Given the description of an element on the screen output the (x, y) to click on. 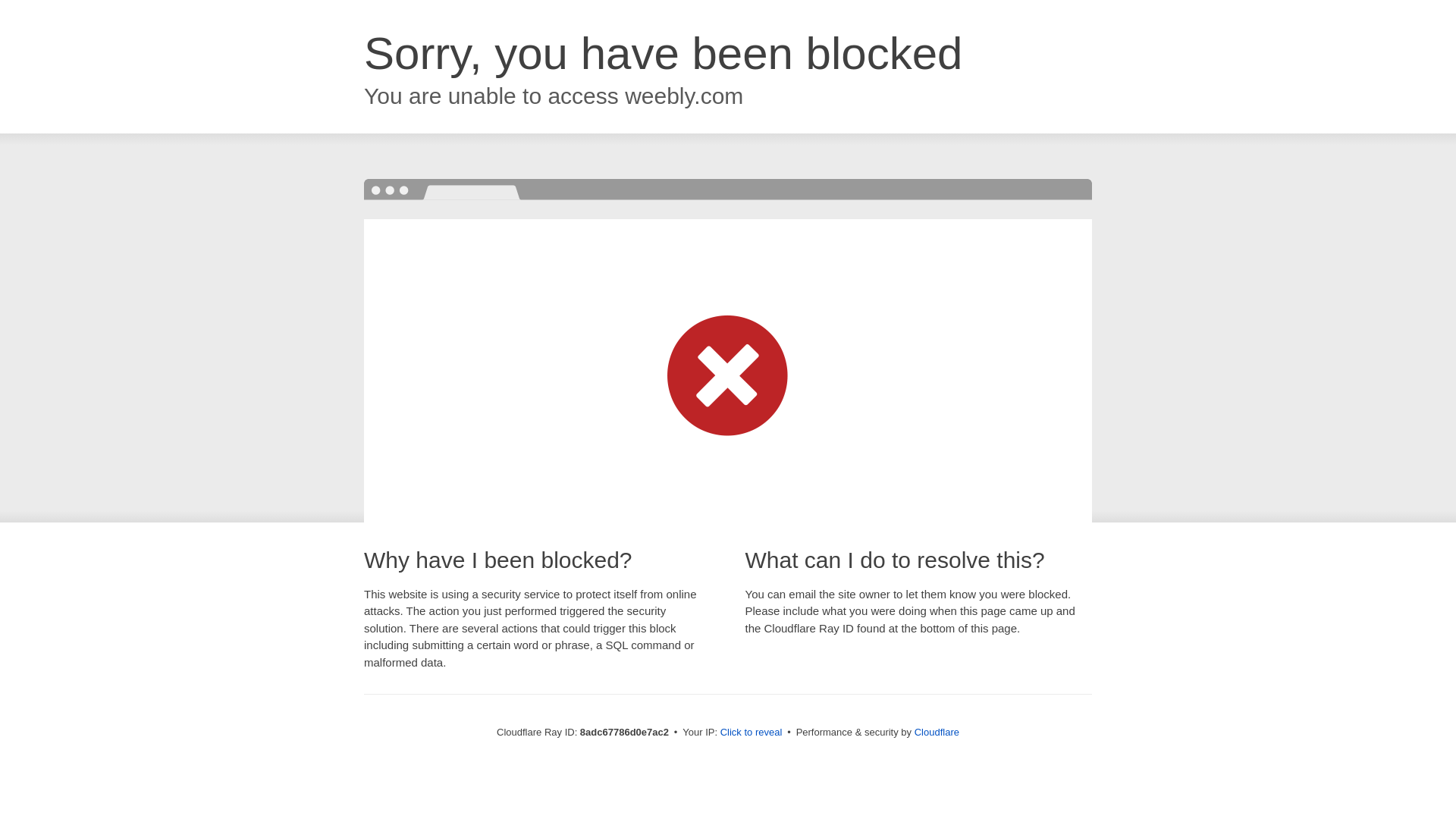
Cloudflare (937, 731)
Click to reveal (751, 732)
